Given the description of an element on the screen output the (x, y) to click on. 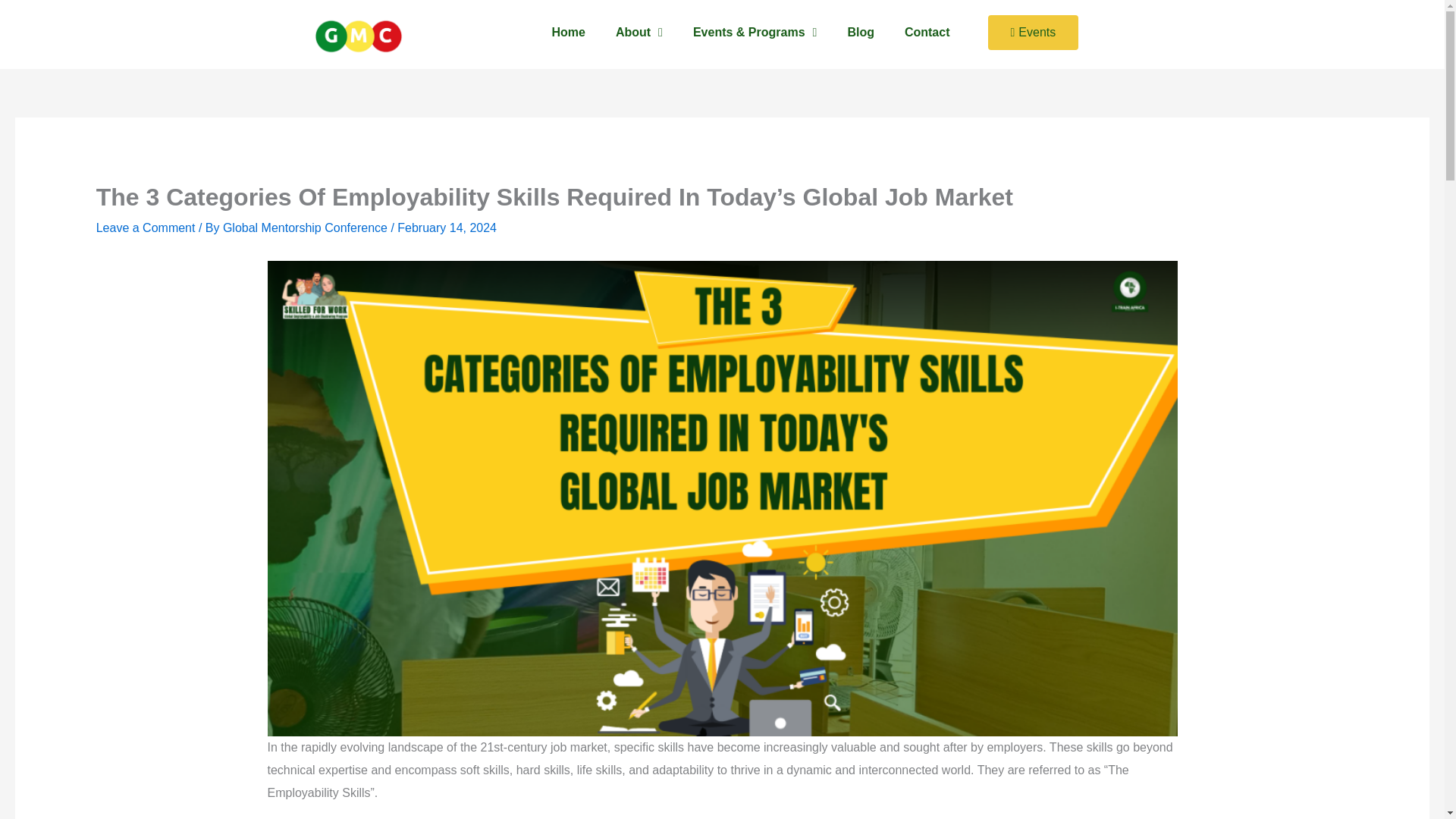
View all posts by Global Mentorship Conference (306, 227)
Events (1032, 31)
Blog (860, 15)
Contact (927, 17)
